Given the description of an element on the screen output the (x, y) to click on. 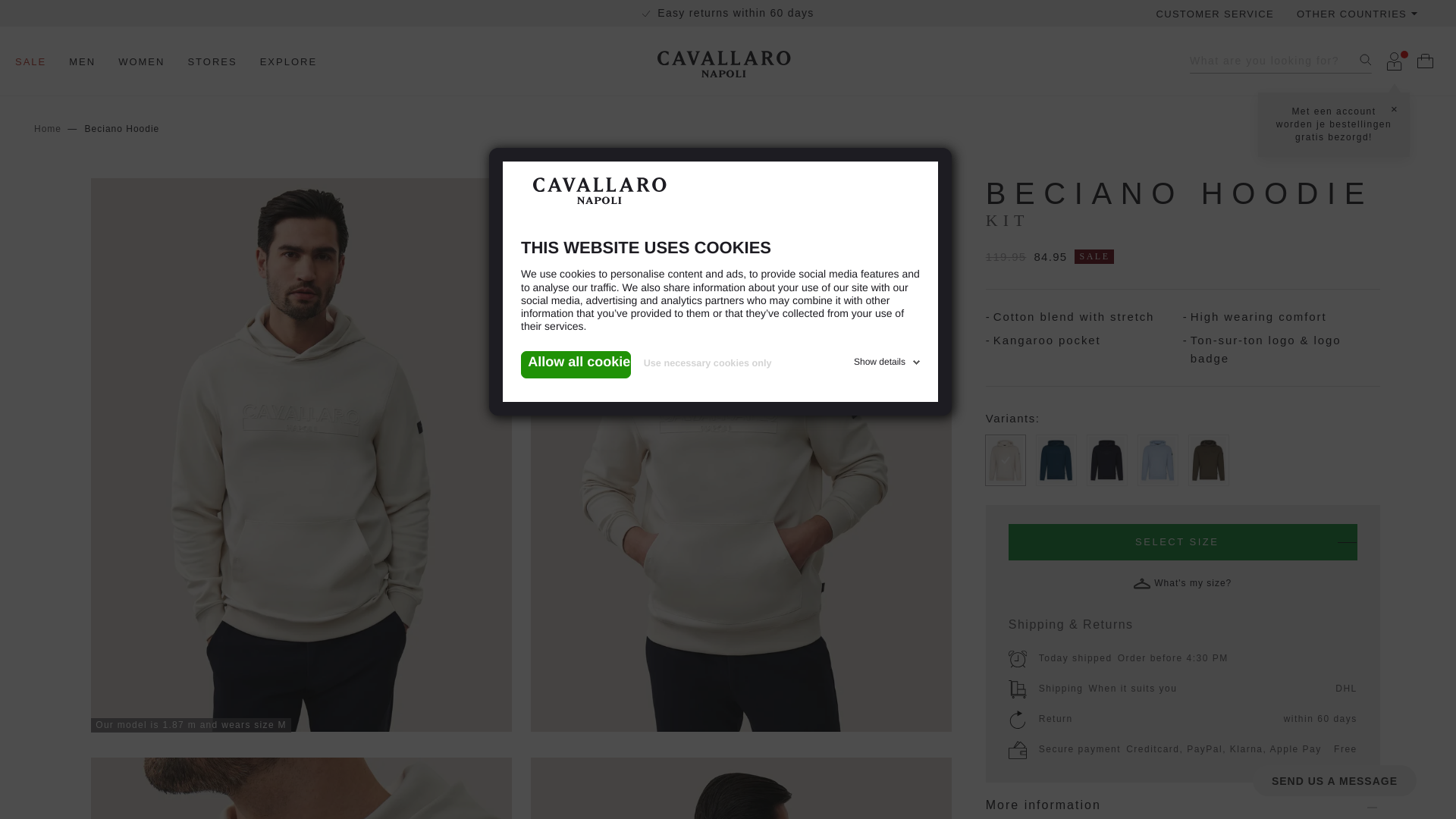
Allow all cookies (575, 364)
Show details (888, 359)
Use necessary cookies only (691, 369)
